Given the description of an element on the screen output the (x, y) to click on. 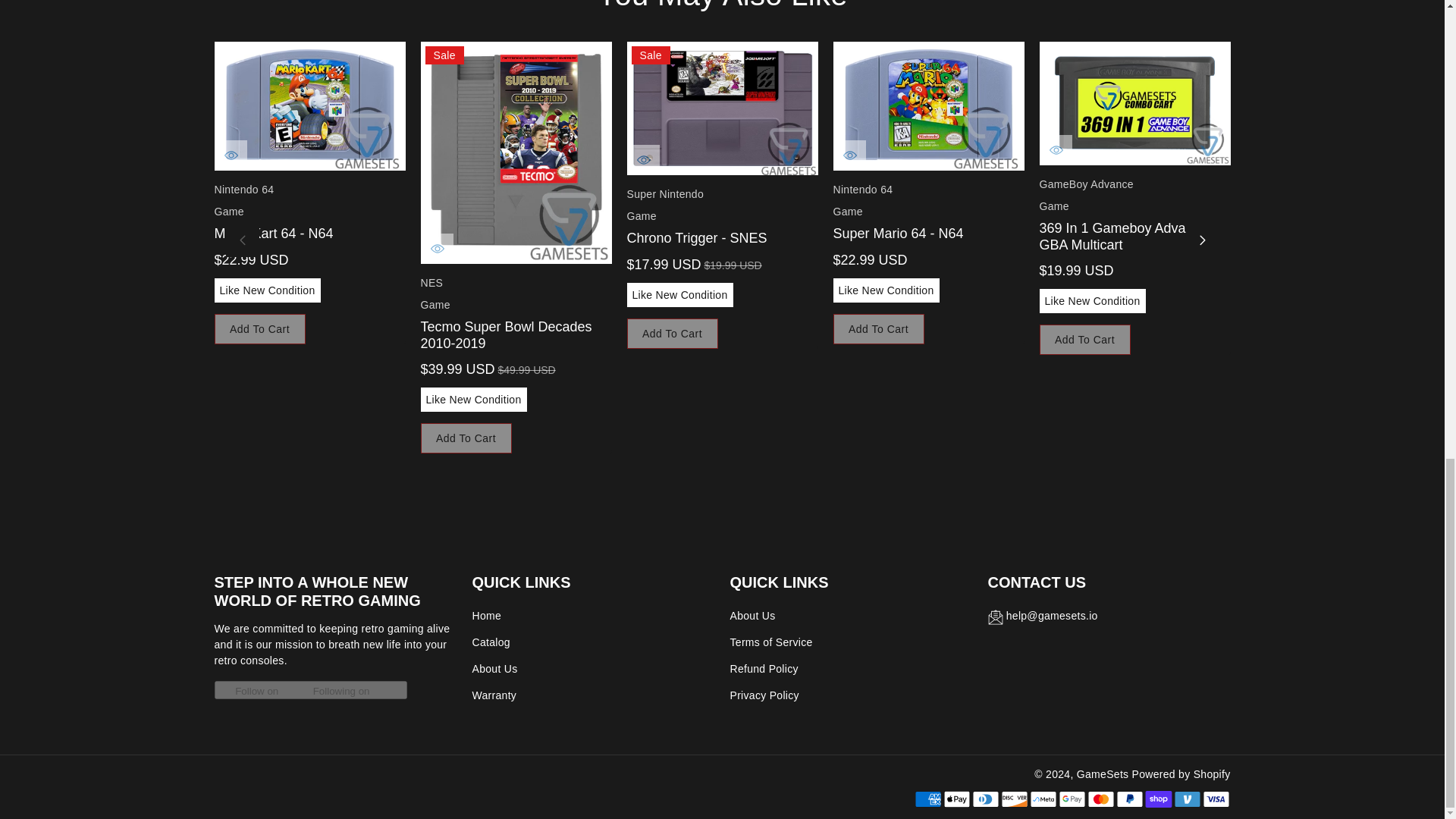
Mario Kart 64 - N64 (309, 105)
369 in 1 Gameboy Advance - GBA Multicart (1134, 103)
Super Mario 64 - N64 (927, 105)
12 in 1 Mario Gameboy Advance - GBA Multicart (1339, 103)
Chrono Trigger - SNES (721, 108)
